Given the description of an element on the screen output the (x, y) to click on. 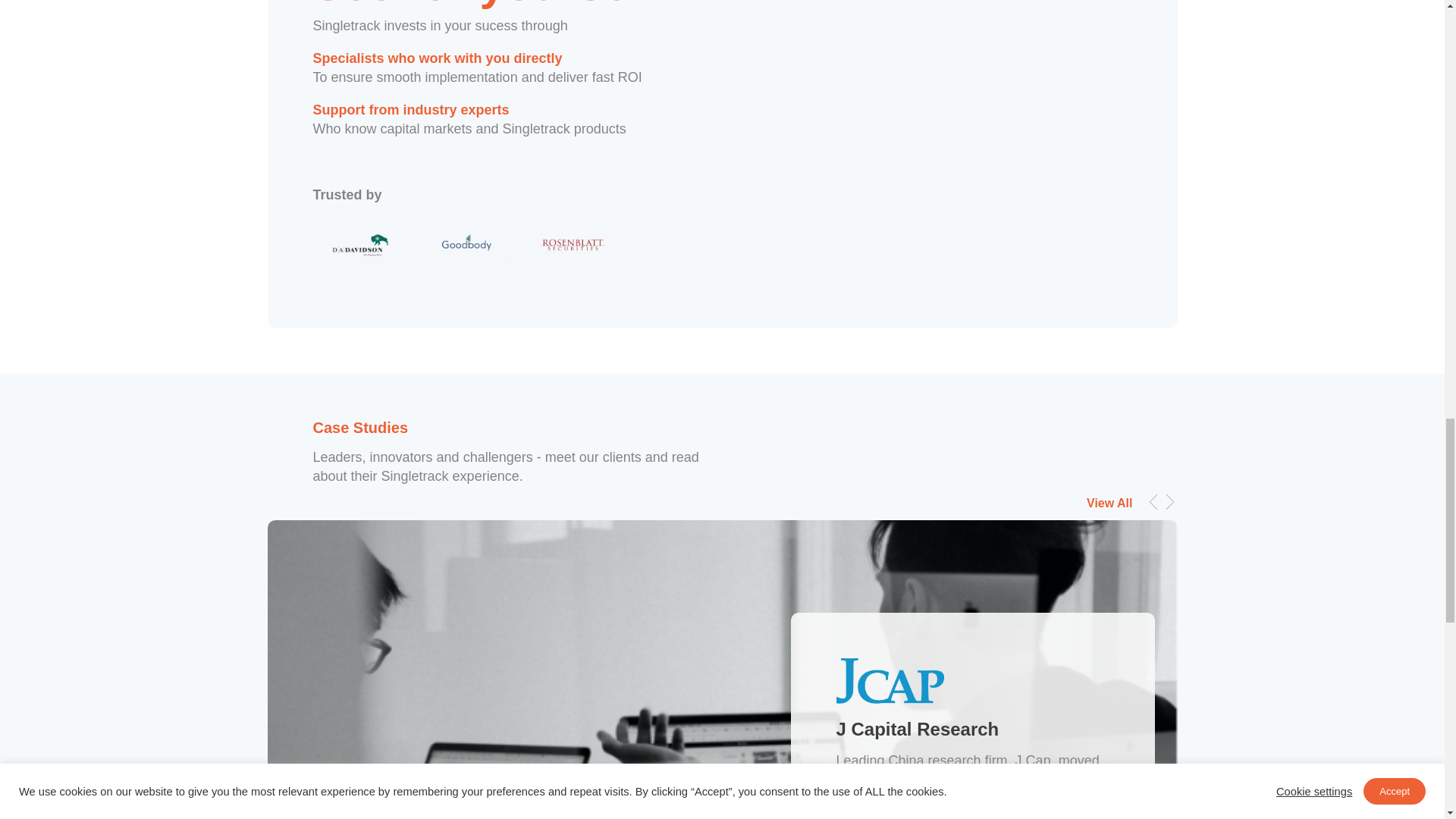
Book a demo (932, 98)
